Given the description of an element on the screen output the (x, y) to click on. 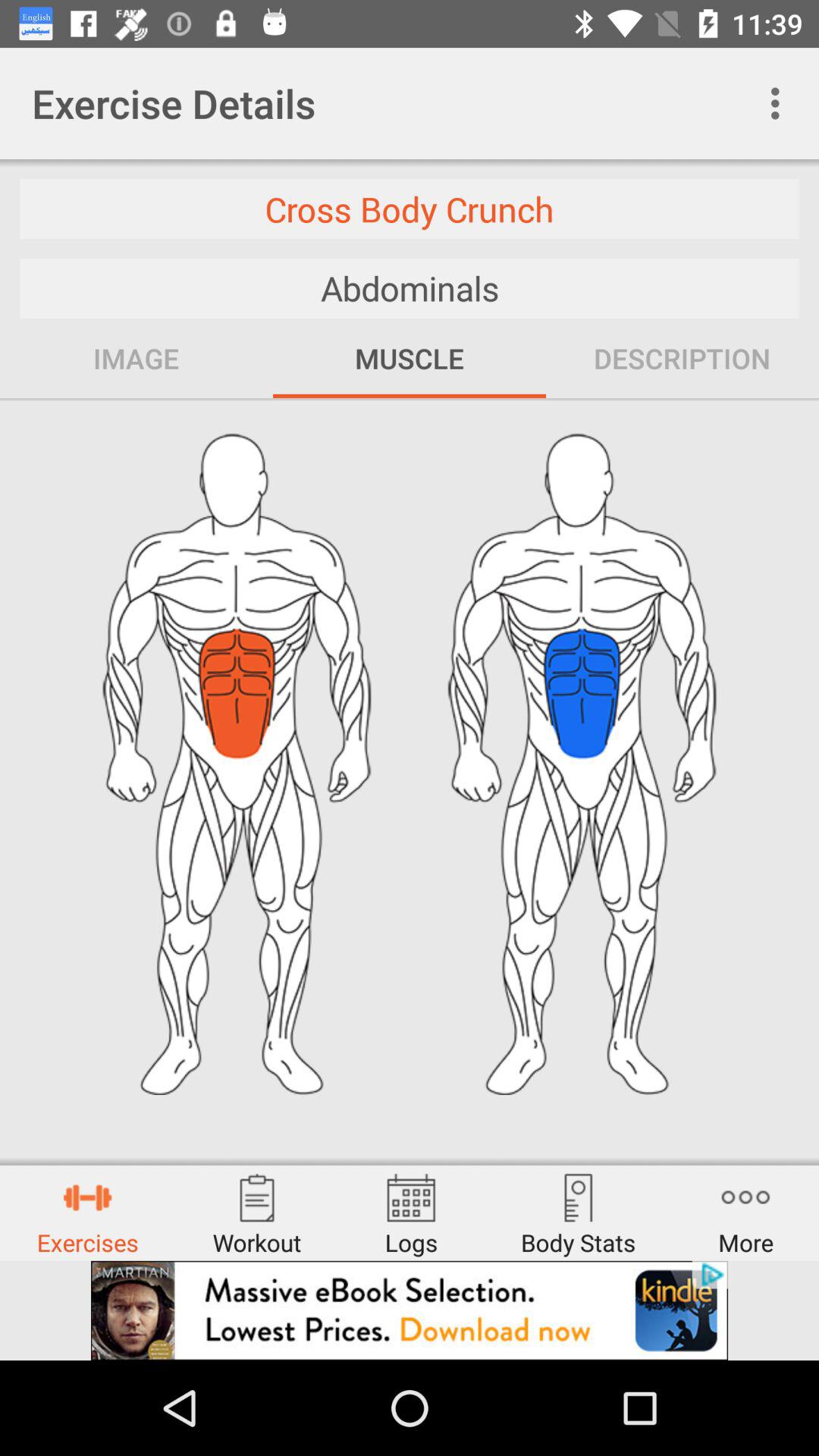
see advertisement (409, 1310)
